Given the description of an element on the screen output the (x, y) to click on. 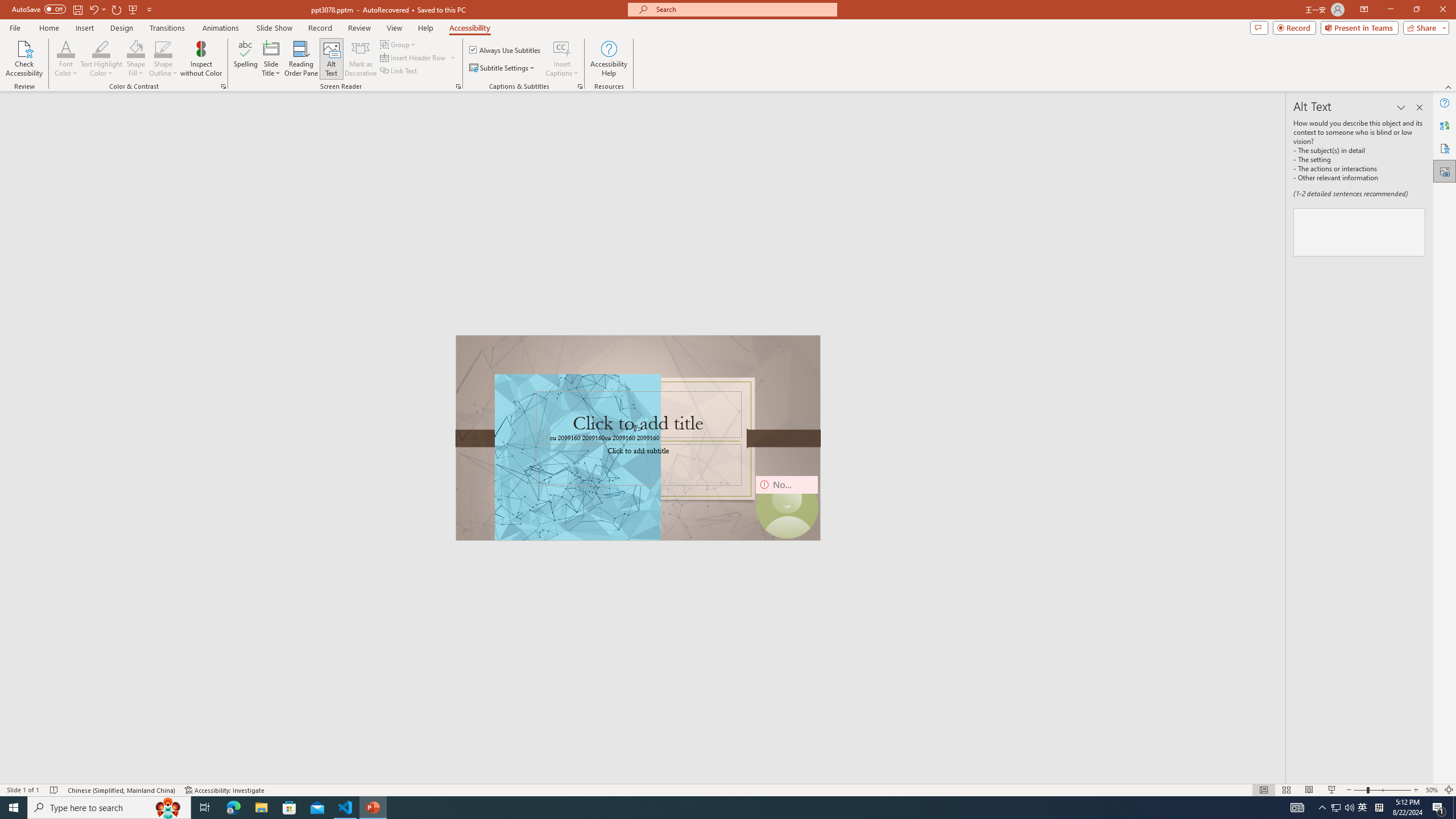
Captions & Subtitles (580, 85)
Translator (1444, 125)
Subtitle TextBox (638, 464)
Always Use Subtitles (505, 49)
Slide Title (271, 58)
Shape Fill (135, 48)
